Given the description of an element on the screen output the (x, y) to click on. 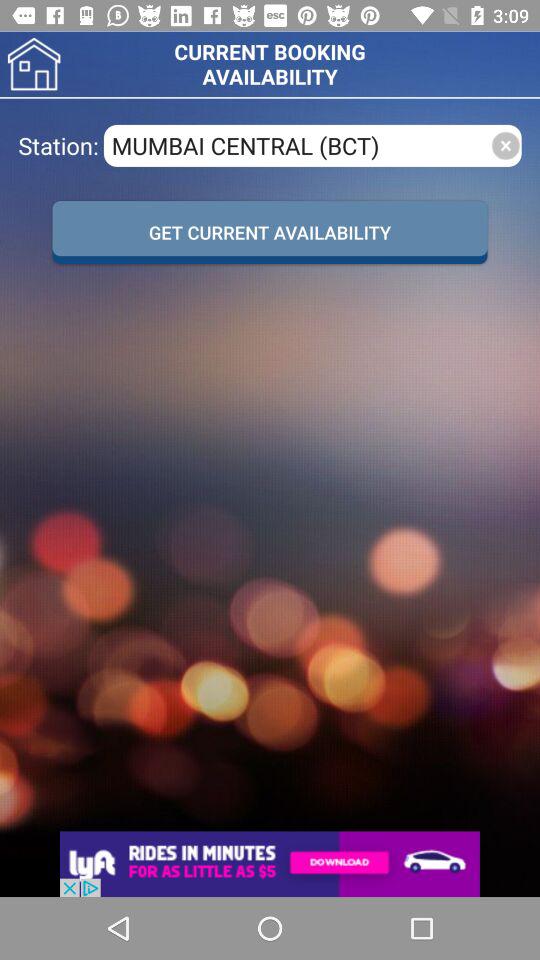
open add (270, 864)
